Given the description of an element on the screen output the (x, y) to click on. 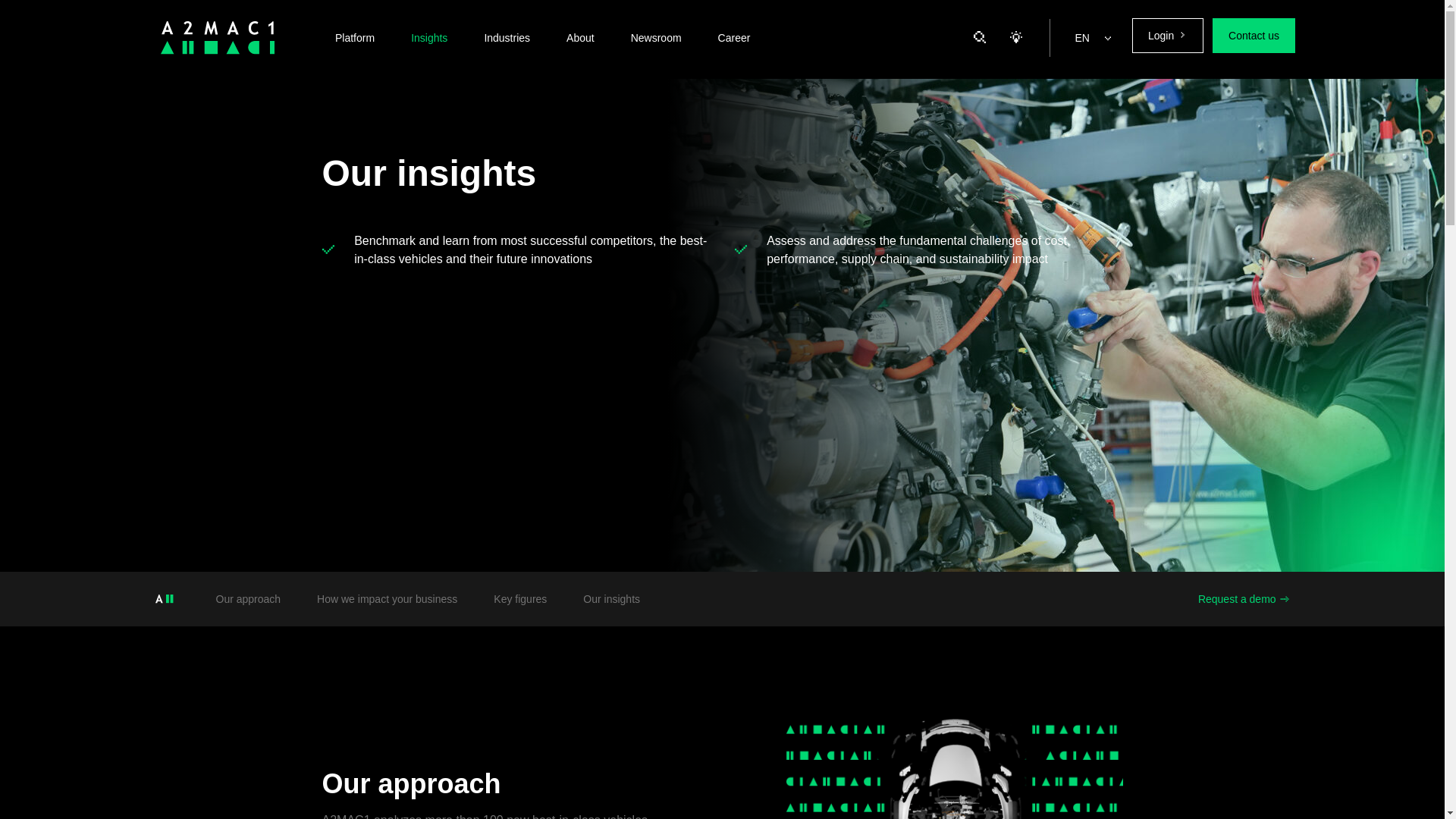
How we impact your business (387, 598)
Contact us (1253, 35)
arrow-right icon (1283, 598)
Newsroom (656, 38)
EN (1092, 37)
Insights (429, 38)
caret-right icon (1182, 34)
Login caret-right icon (1168, 35)
Industries (506, 38)
light-on icon (1016, 37)
loupe icon (979, 37)
Our approach (248, 598)
Platform (355, 38)
Our insights (611, 598)
A2MAC1 (217, 37)
